Given the description of an element on the screen output the (x, y) to click on. 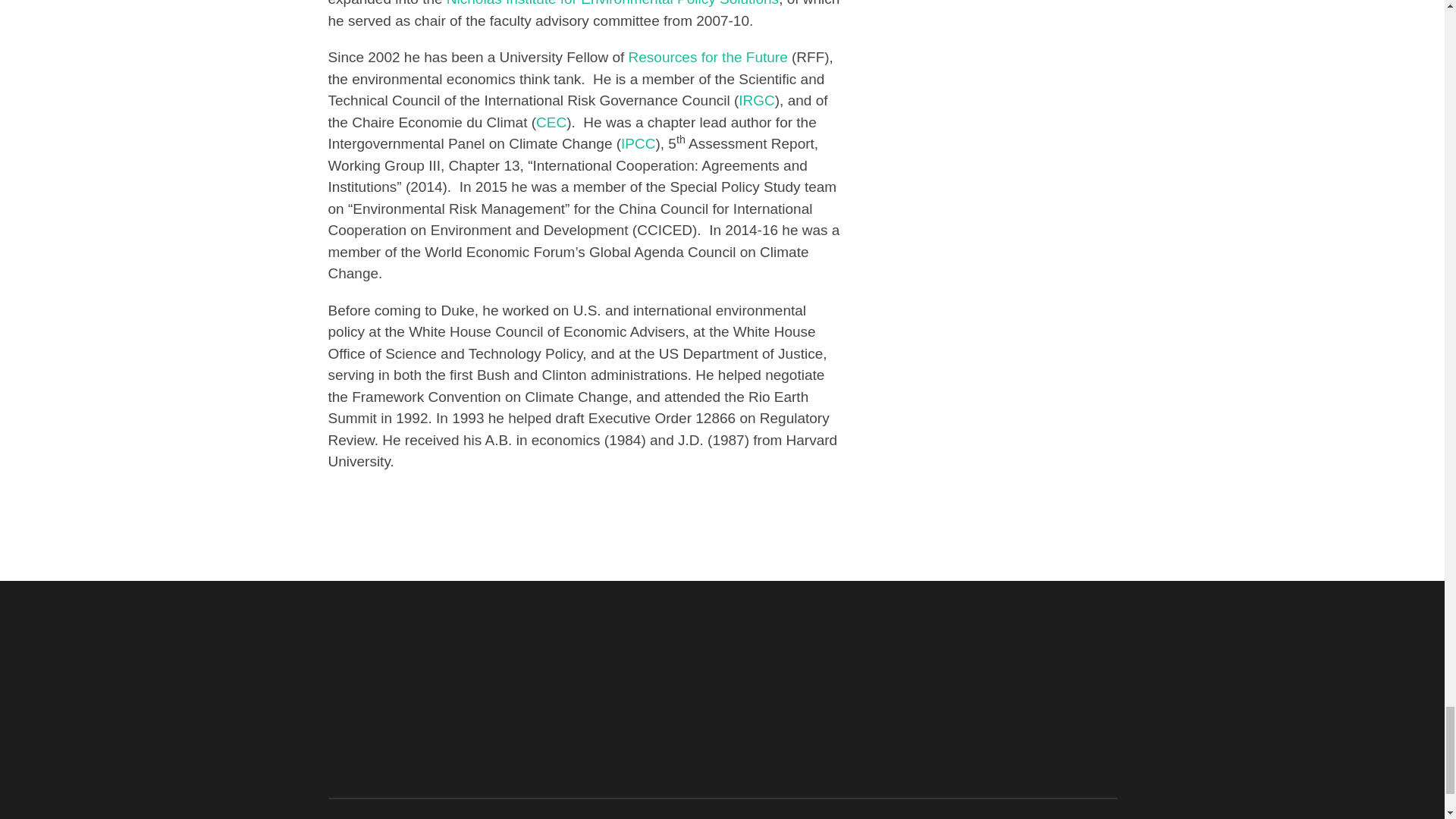
Nicholas Institute for Environmental Policy Solutions (612, 3)
CEC (550, 122)
IPCC (638, 143)
IRGC (756, 100)
Resources for the Future (707, 57)
